Given the description of an element on the screen output the (x, y) to click on. 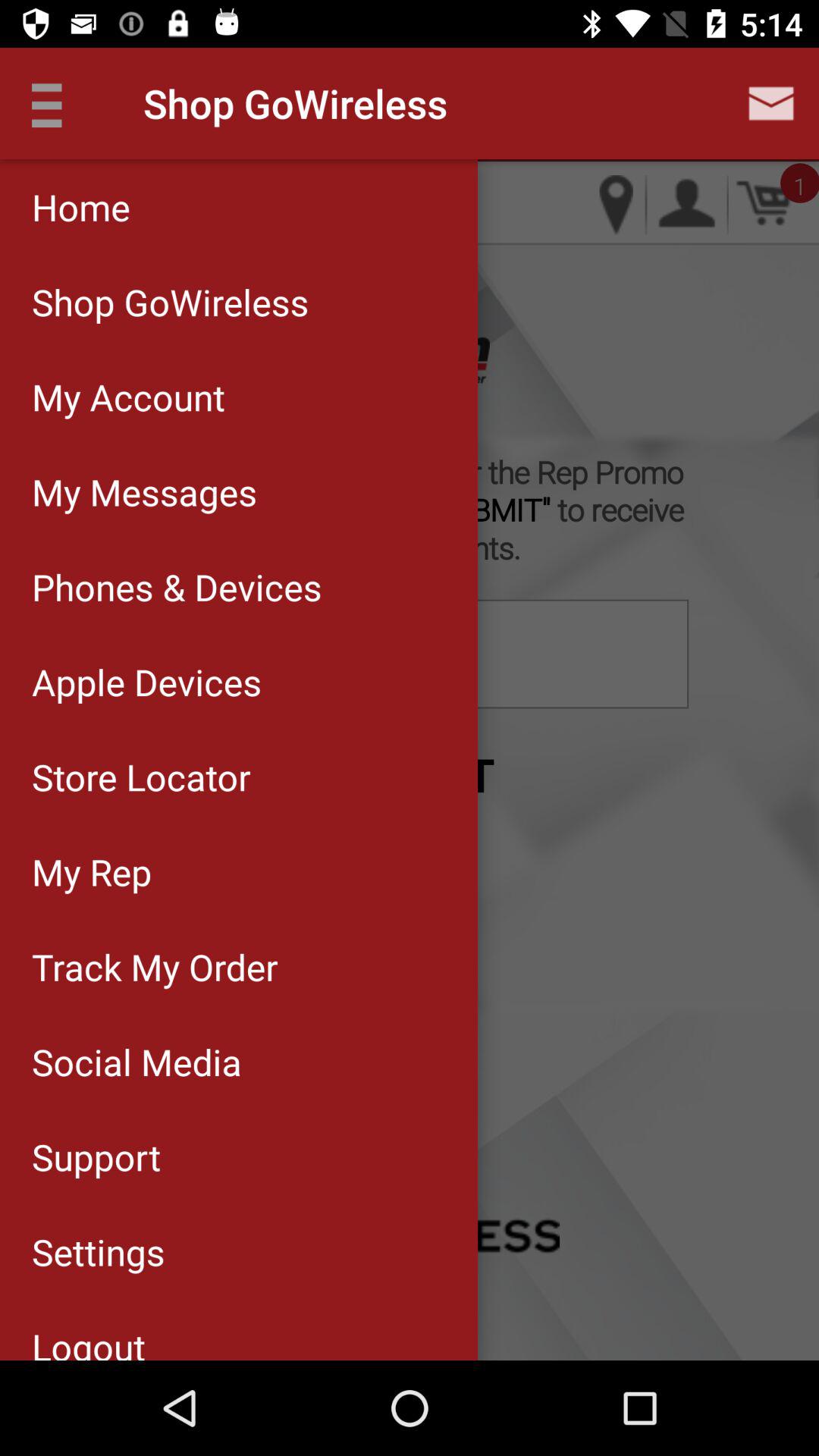
tap the icon above the shop gowireless item (238, 206)
